Given the description of an element on the screen output the (x, y) to click on. 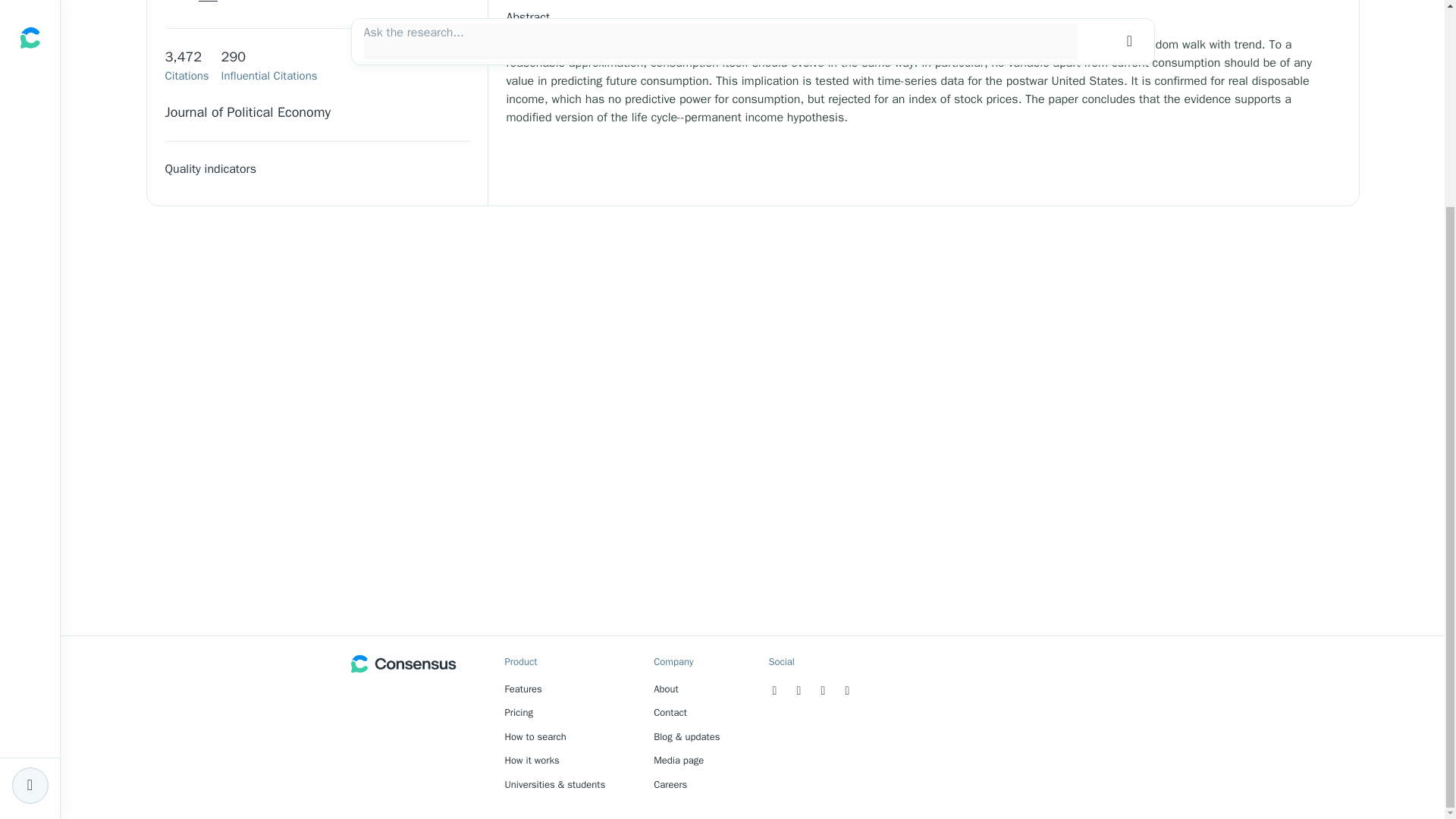
How it works (532, 759)
Contact (670, 712)
Features (523, 688)
How to search (535, 735)
Media page (678, 759)
Pricing (518, 712)
Cite (197, 4)
About (665, 688)
Careers (670, 784)
